Given the description of an element on the screen output the (x, y) to click on. 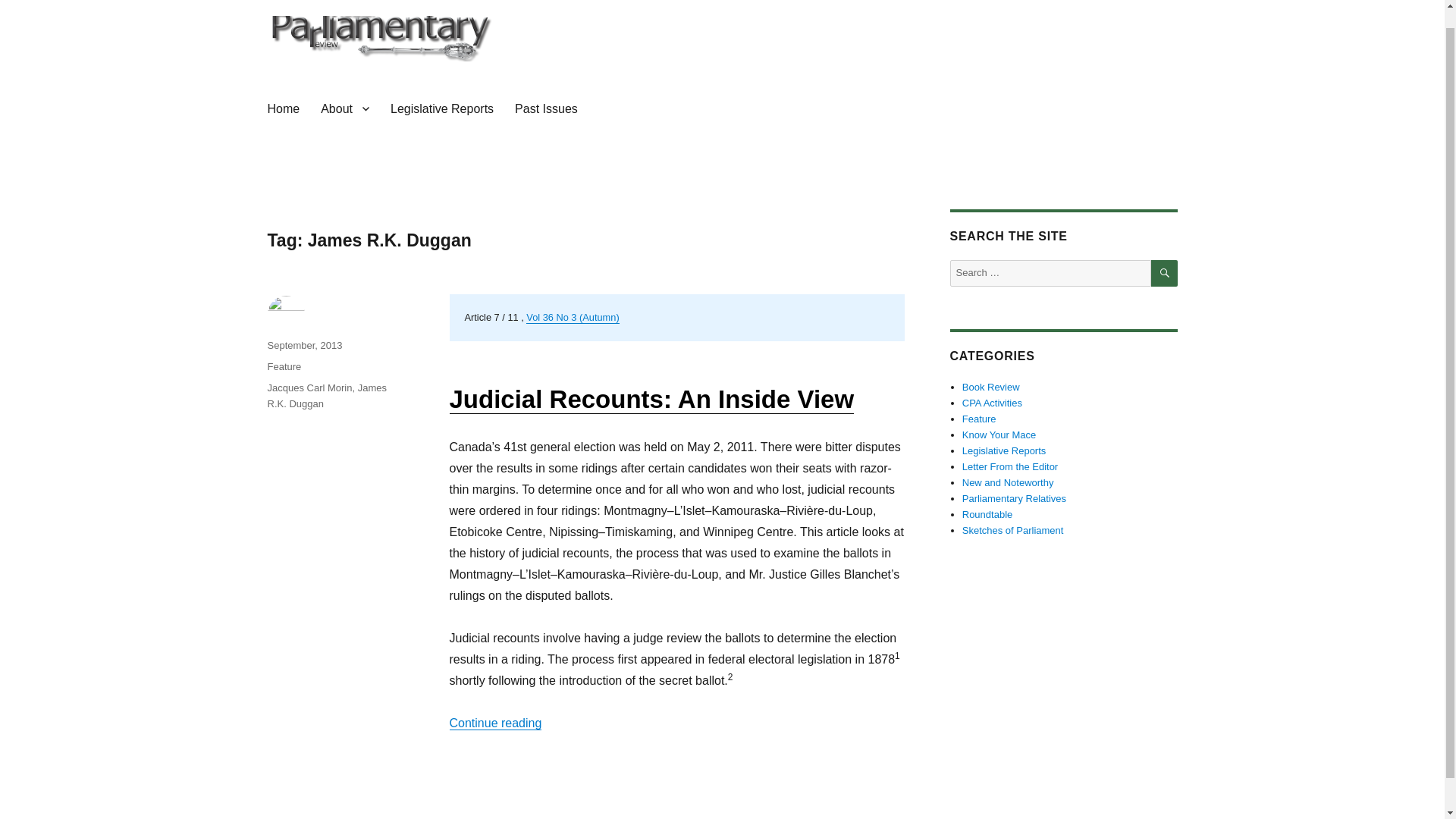
SEARCH (1164, 273)
Jacques Carl Morin (309, 387)
About (345, 108)
New and Noteworthy (1008, 482)
September, 2013 (304, 345)
CPA Activities (992, 402)
Roundtable (987, 514)
Sketches of Parliament (1013, 530)
Judicial Recounts: An Inside View (650, 398)
Feature (283, 366)
